Given the description of an element on the screen output the (x, y) to click on. 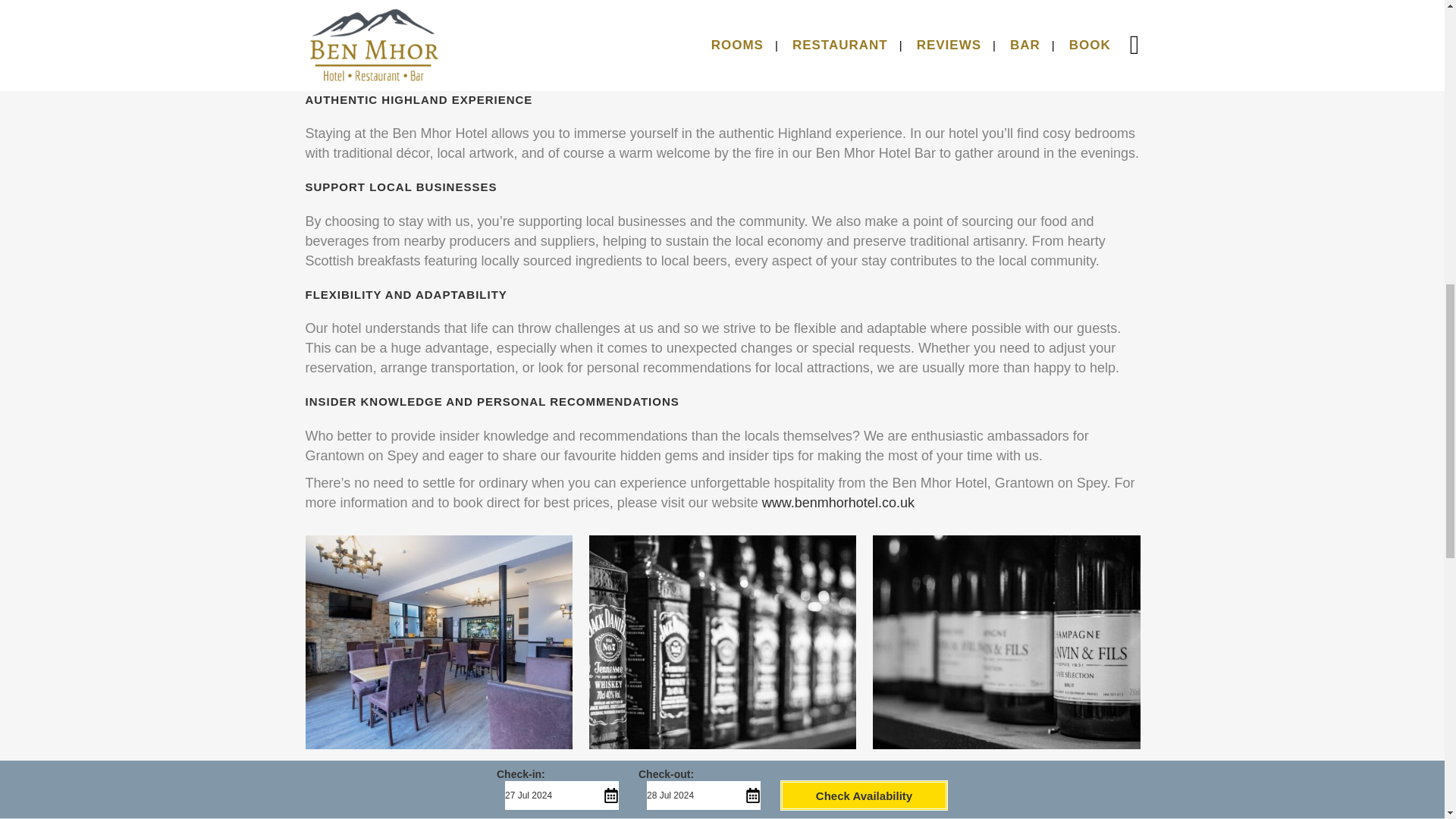
Hotel Reception (438, 792)
www.benmhorhotel.co.uk (837, 502)
bar5 (722, 792)
bar2 (438, 642)
bar4 (1006, 792)
The Ben Mhor Bar (722, 642)
bar9 (1006, 642)
